Given the description of an element on the screen output the (x, y) to click on. 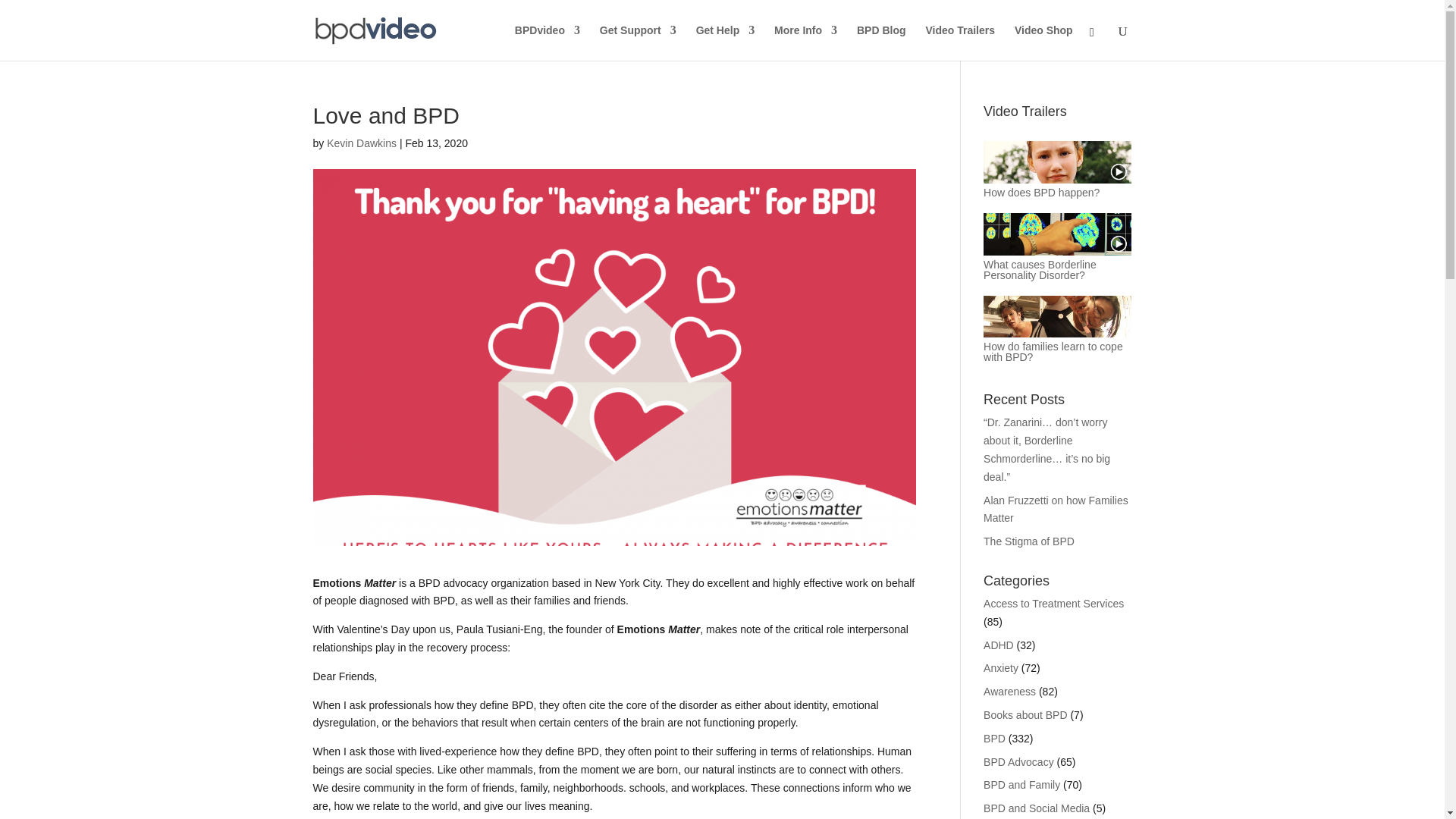
How do families learn to cope with BPD? (1053, 351)
BPD Blog (881, 42)
Posts by Kevin Dawkins (361, 143)
More Info (805, 42)
Kevin Dawkins (361, 143)
Get Help (725, 42)
Video Shop (1043, 42)
Alan Fruzzetti on how Families Matter (1056, 509)
Video Trailers (959, 42)
What causes Borderline Personality Disorder? (1040, 269)
